Given the description of an element on the screen output the (x, y) to click on. 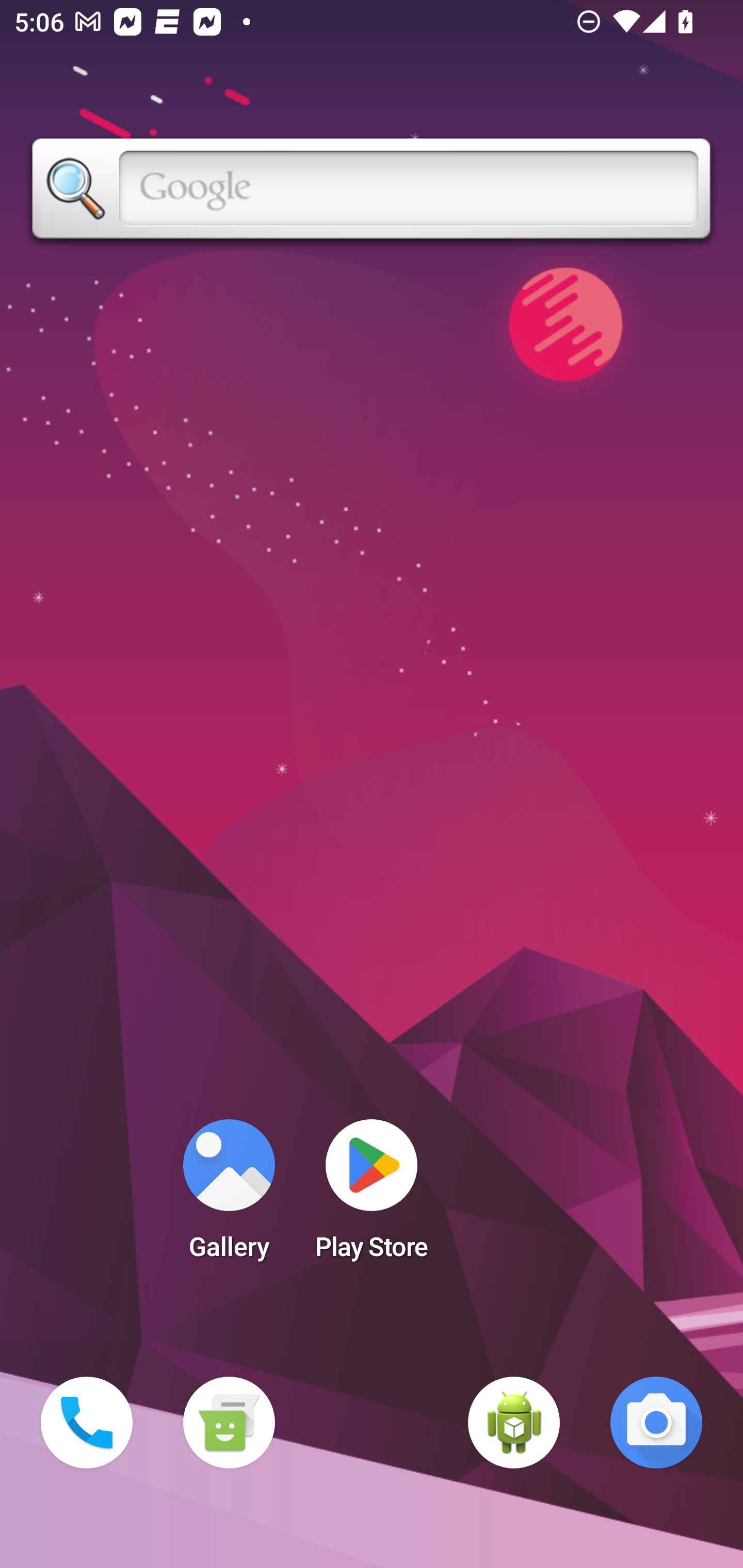
Gallery (228, 1195)
Play Store (371, 1195)
Phone (86, 1422)
Messaging (228, 1422)
WebView Browser Tester (513, 1422)
Camera (656, 1422)
